Given the description of an element on the screen output the (x, y) to click on. 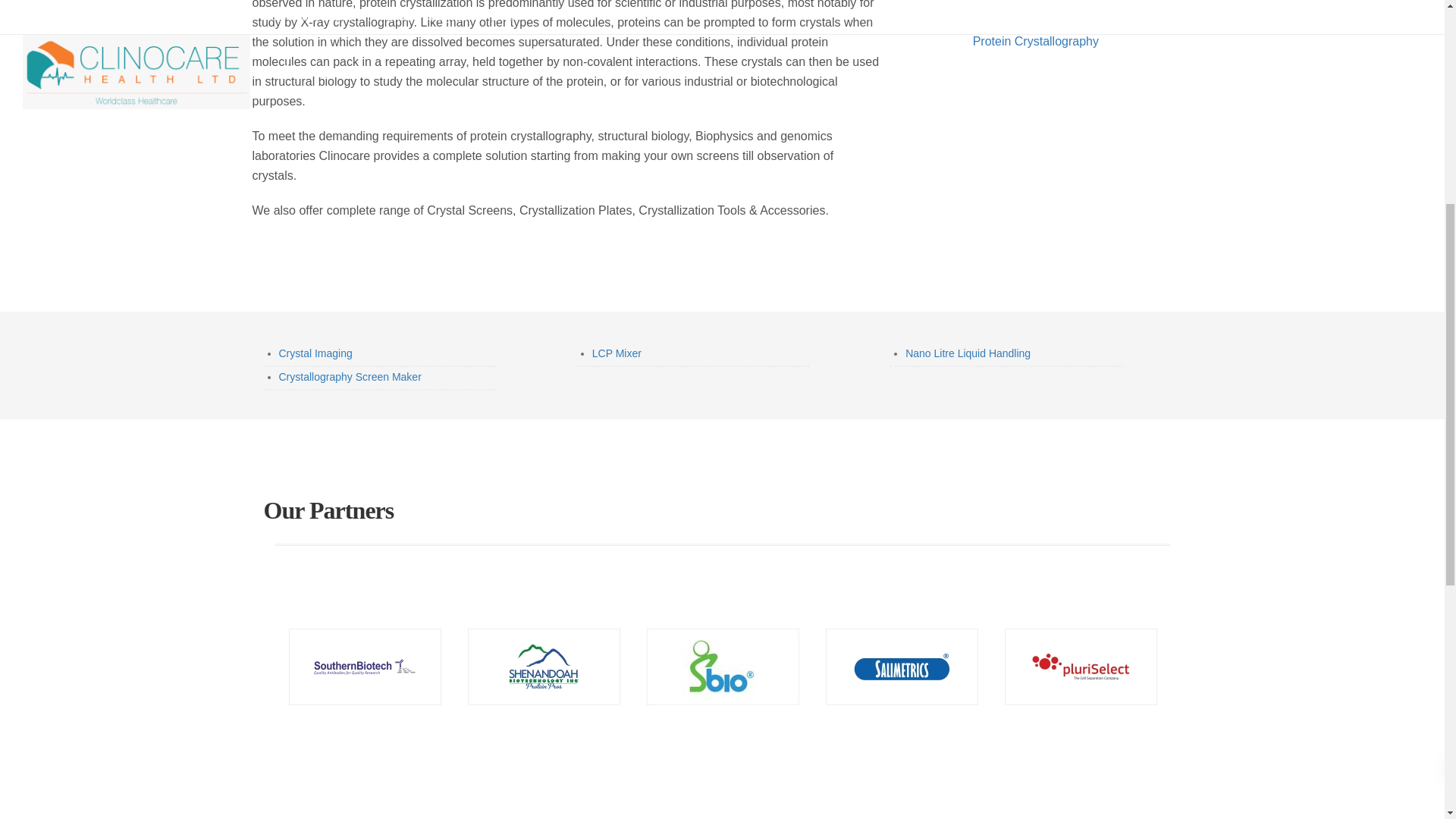
Immunology (527, 89)
Protein Crystallography (1035, 41)
Crystal Imaging (315, 353)
Plant Research (299, 153)
Crystallography Screen Maker (350, 377)
Clinical Chemistry (541, 68)
Protein Crystallography (318, 175)
LCP Mixer (617, 353)
Discovery Research (310, 111)
Nano Litre Liquid Handling (967, 353)
Lab Animal Management (322, 132)
Cell Transport and Storage Media (342, 89)
